Given the description of an element on the screen output the (x, y) to click on. 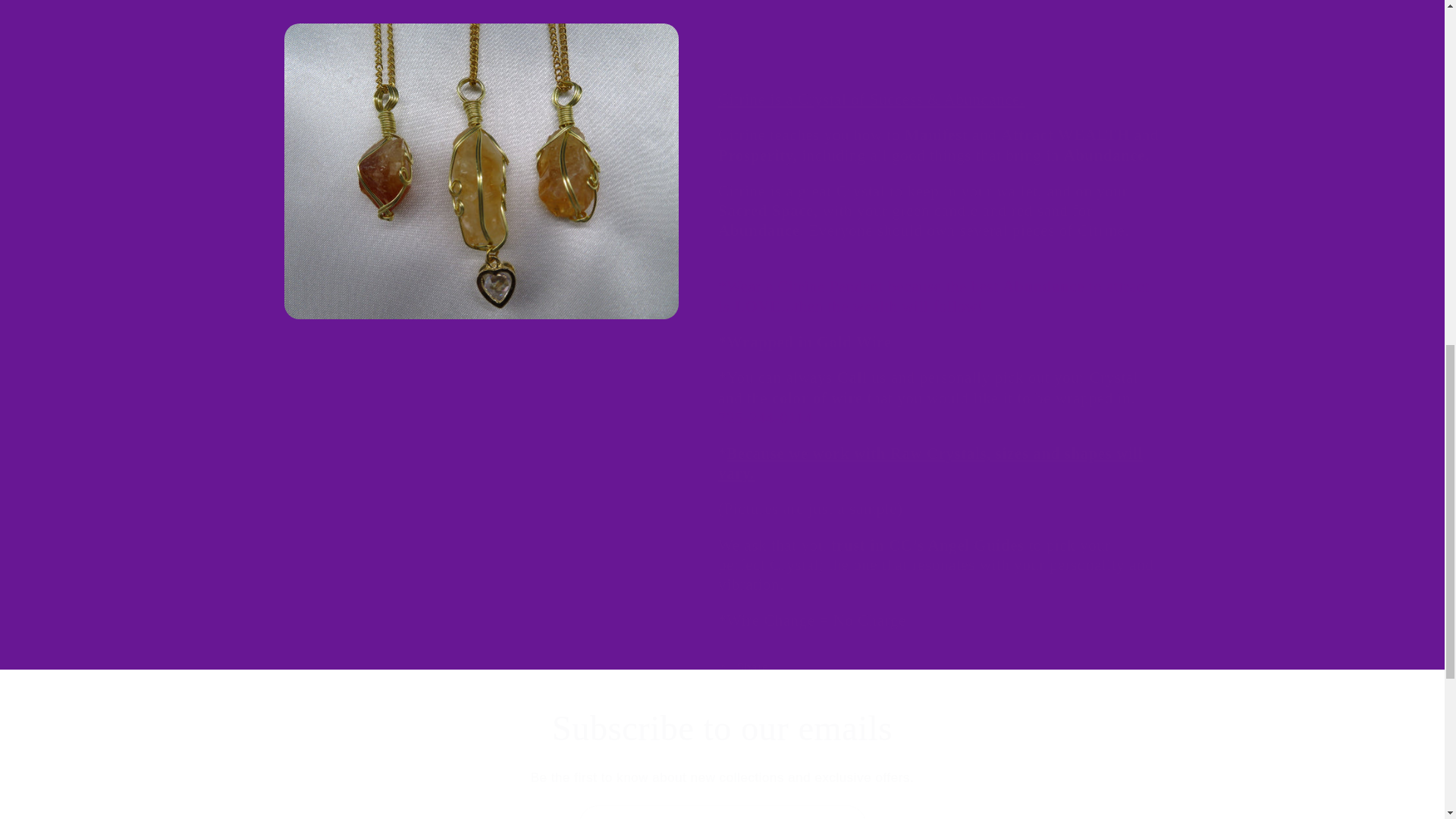
Subscribe to our emails (722, 728)
Email (722, 812)
